Given the description of an element on the screen output the (x, y) to click on. 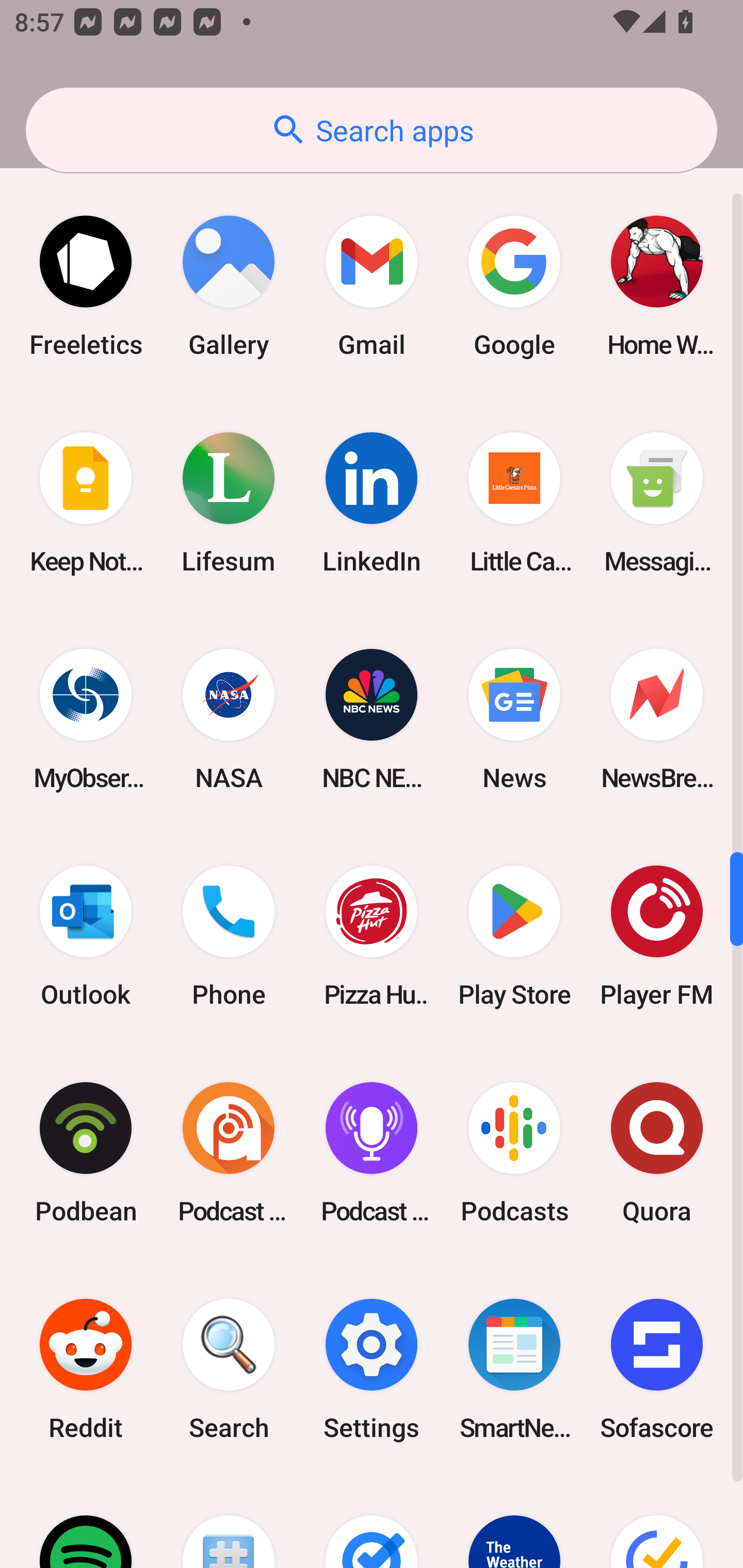
  Search apps (371, 130)
Freeletics (85, 286)
Gallery (228, 286)
Gmail (371, 286)
Google (514, 286)
Home Workout (656, 286)
Keep Notes (85, 503)
Lifesum (228, 503)
LinkedIn (371, 503)
Little Caesars Pizza (514, 503)
Messaging (656, 503)
MyObservatory (85, 719)
NASA (228, 719)
NBC NEWS (371, 719)
News (514, 719)
NewsBreak (656, 719)
Outlook (85, 935)
Phone (228, 935)
Pizza Hut HK & Macau (371, 935)
Play Store (514, 935)
Player FM (656, 935)
Podbean (85, 1152)
Podcast Addict (228, 1152)
Podcast Player (371, 1152)
Podcasts (514, 1152)
Quora (656, 1152)
Reddit (85, 1368)
Search (228, 1368)
Settings (371, 1368)
SmartNews (514, 1368)
Sofascore (656, 1368)
Spotify (85, 1522)
Superuser (228, 1522)
Tasks (371, 1522)
The Weather Channel (514, 1522)
TickTick (656, 1522)
